Given the description of an element on the screen output the (x, y) to click on. 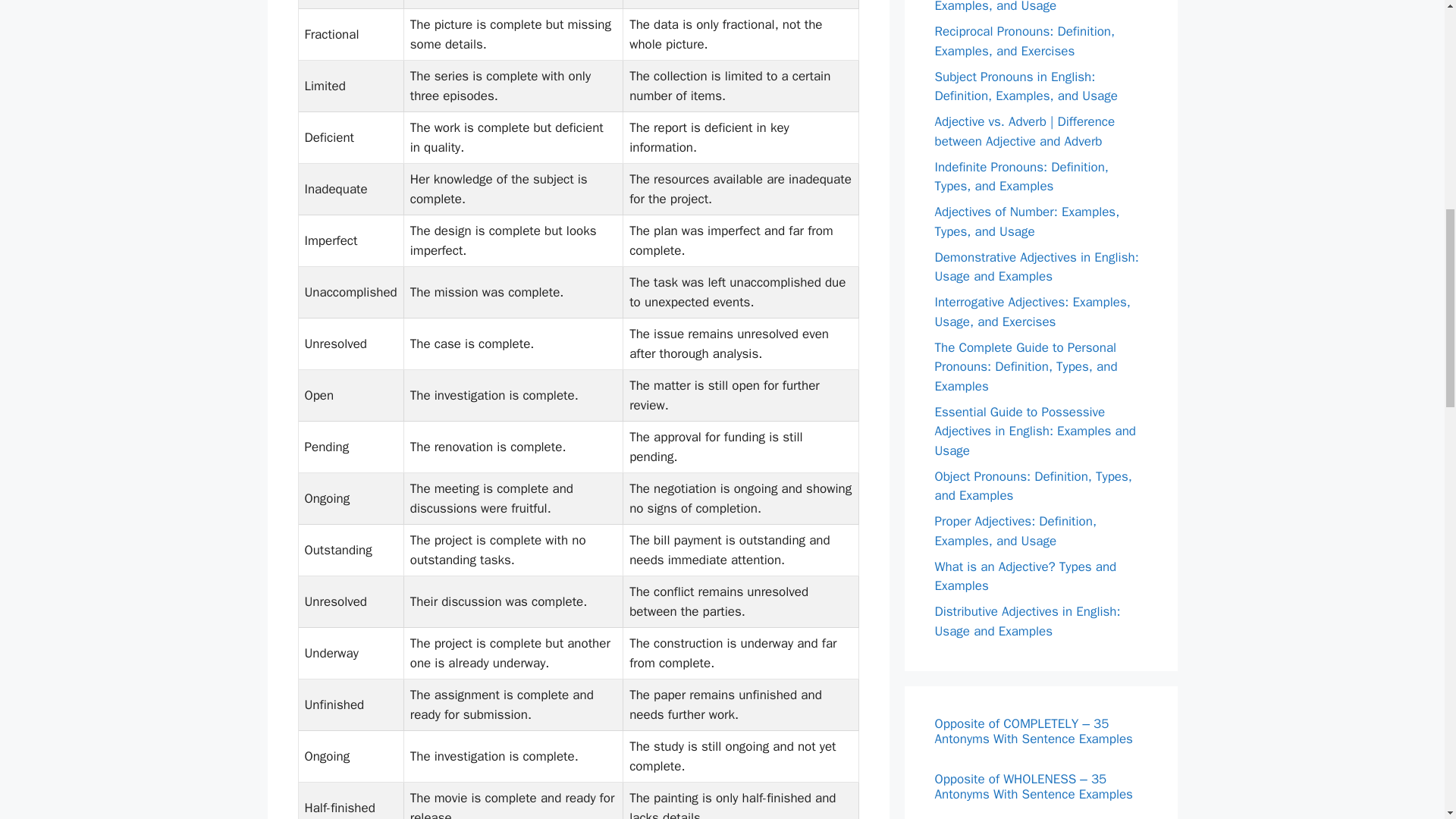
Subject Pronouns in English: Definition, Examples, and Usage (1025, 85)
Interrogative Adjectives: Examples, Usage, and Exercises (1031, 312)
Reciprocal Pronouns: Definition, Examples, and Exercises (1024, 40)
Indefinite Pronouns: Definition, Types, and Examples (1021, 176)
Distributive Pronouns: Types, Examples, and Usage (1015, 7)
Object Pronouns: Definition, Types, and Examples (1032, 486)
Adjectives of Number: Examples, Types, and Usage (1026, 221)
Demonstrative Adjectives in English: Usage and Examples (1036, 266)
